Given the description of an element on the screen output the (x, y) to click on. 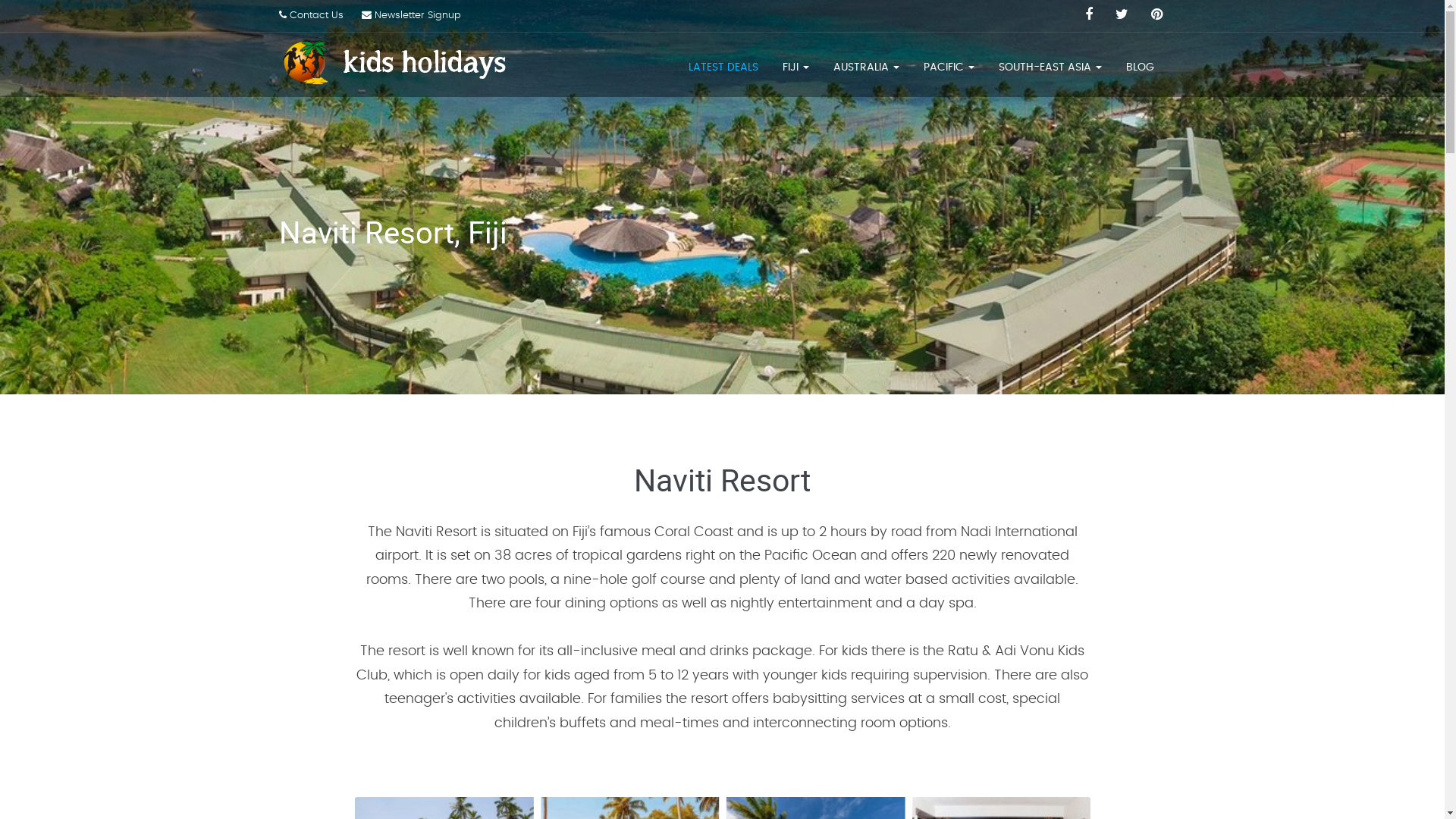
Contact Us Element type: text (311, 15)
SOUTH-EAST ASIA Element type: text (1049, 67)
FIJI Element type: text (795, 67)
PACIFIC Element type: text (948, 67)
LATEST DEALS Element type: text (723, 67)
BLOG Element type: text (1139, 67)
AUSTRALIA Element type: text (865, 67)
Newsletter Signup Element type: text (410, 15)
